Given the description of an element on the screen output the (x, y) to click on. 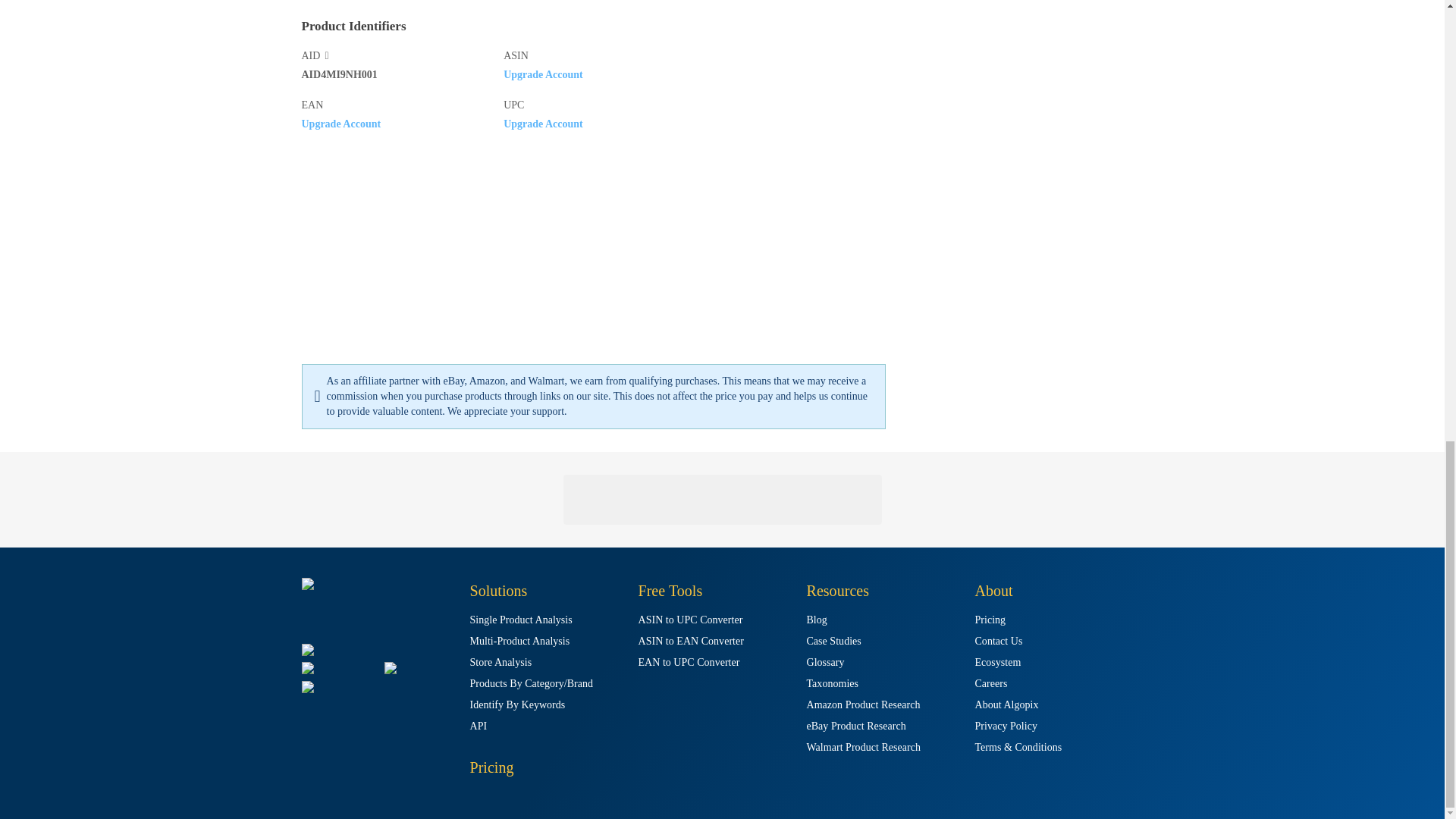
ASIN to UPC Converter (690, 619)
Upgrade Account (341, 123)
Identify By Keywords (518, 704)
Upgrade Account (543, 73)
Upgrade Account (543, 123)
Pricing (491, 767)
API (478, 726)
Store Analysis (501, 662)
Multi-Product Analysis (520, 641)
Single Product Analysis (521, 619)
